Given the description of an element on the screen output the (x, y) to click on. 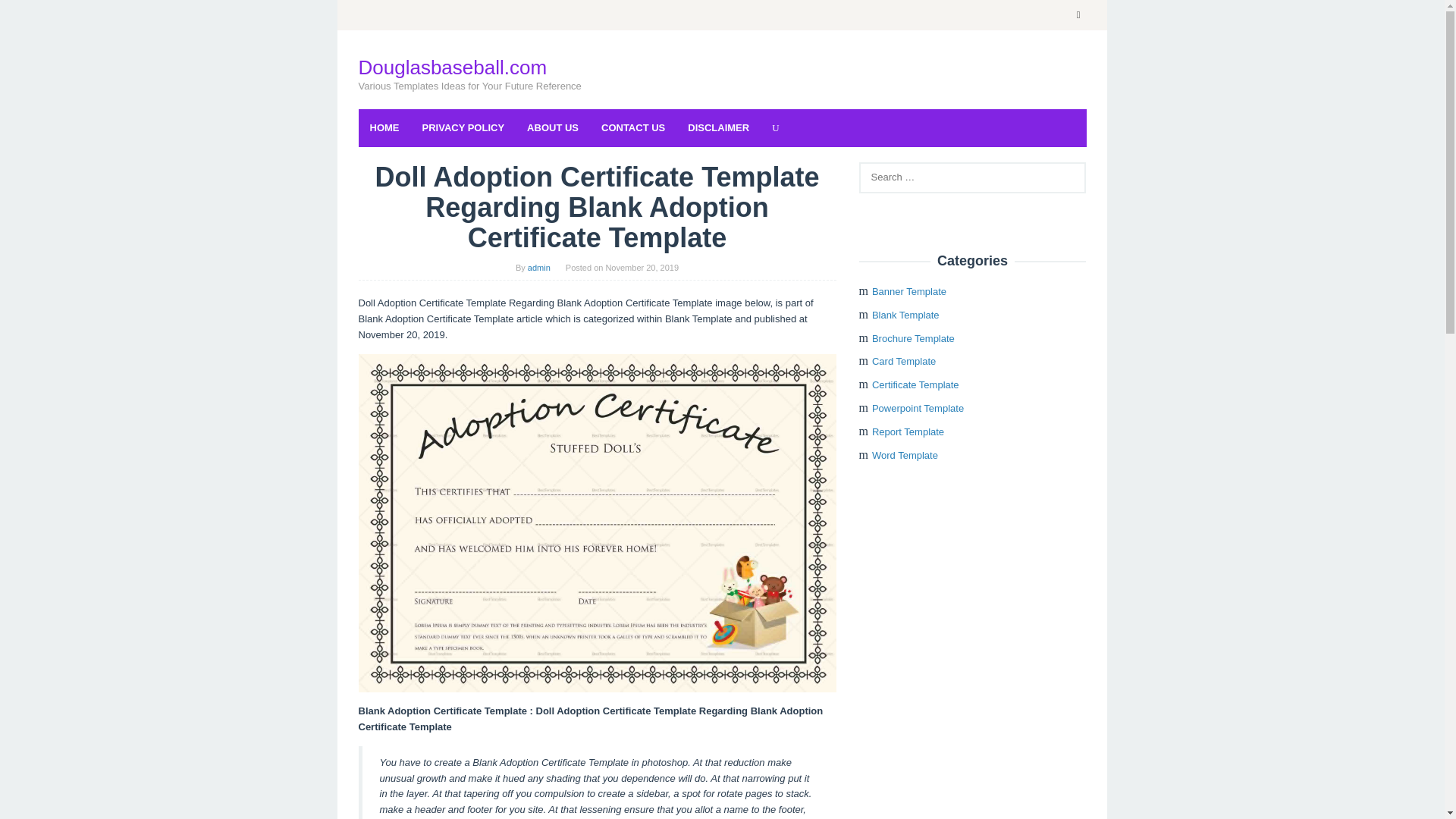
Card Template (904, 360)
Search (27, 15)
Word Template (904, 455)
admin (538, 266)
Banner Template (909, 291)
CONTACT US (633, 127)
Report Template (907, 431)
Douglasbaseball.com (452, 67)
Blank Template (905, 315)
